Given the description of an element on the screen output the (x, y) to click on. 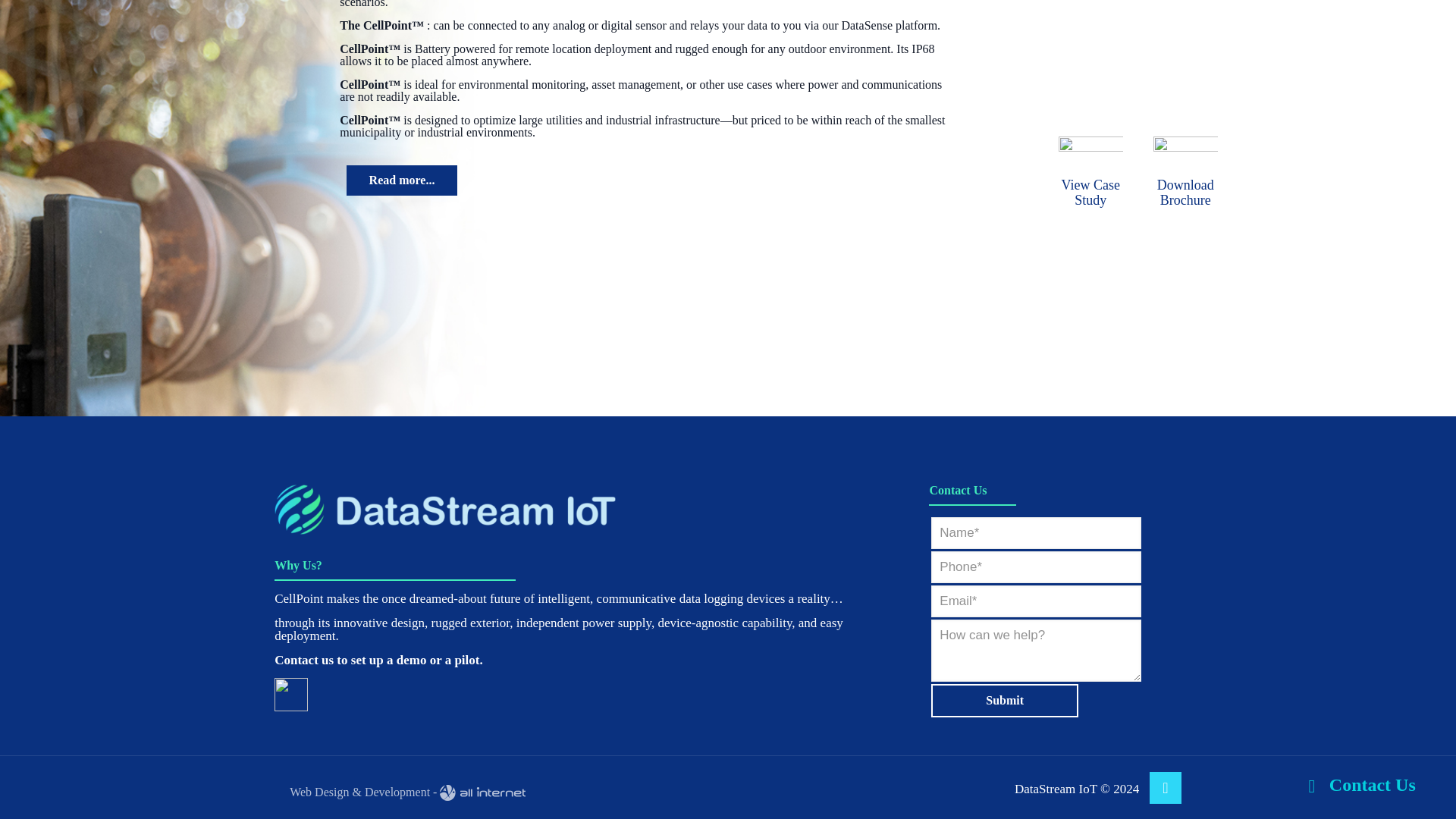
Submit (1004, 700)
Submit (1004, 700)
Read more... (402, 180)
Contact Us (1357, 623)
